Given the description of an element on the screen output the (x, y) to click on. 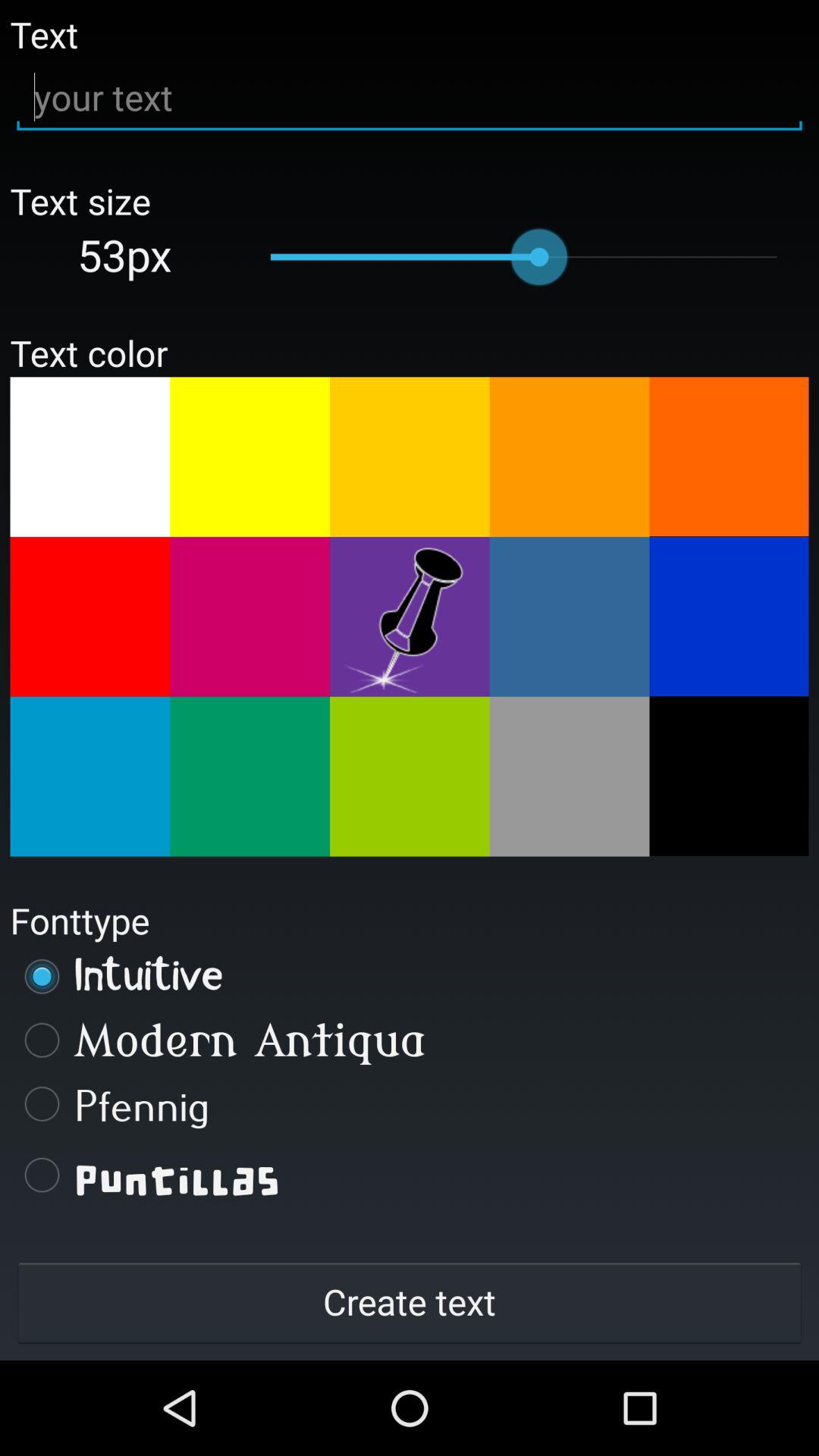
change colour (90, 776)
